Given the description of an element on the screen output the (x, y) to click on. 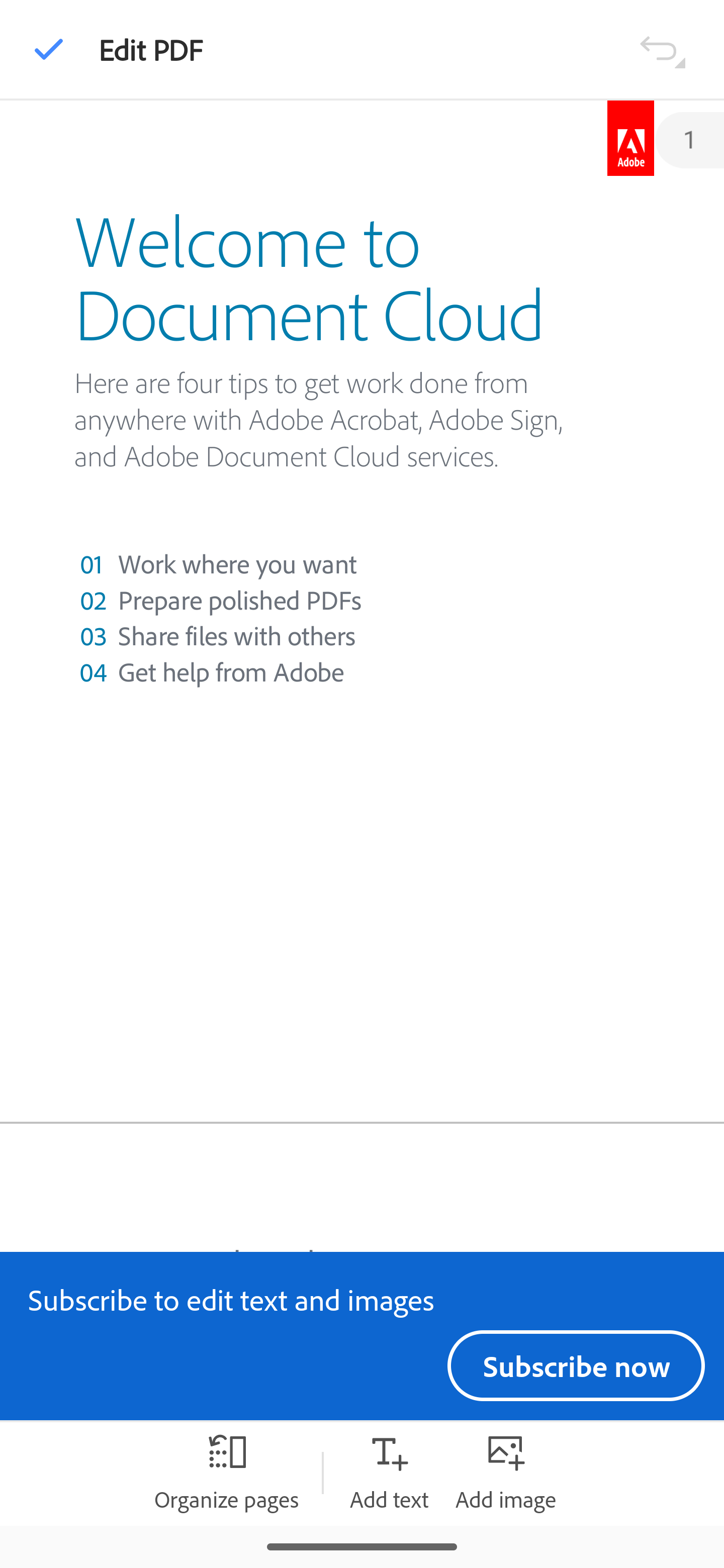
Done (49, 49)
Undo Disabled (662, 48)
Subscribe now (575, 1365)
Organize pages (226, 1472)
Organize pages Add text (389, 1472)
Organize pages Add image (505, 1472)
